Given the description of an element on the screen output the (x, y) to click on. 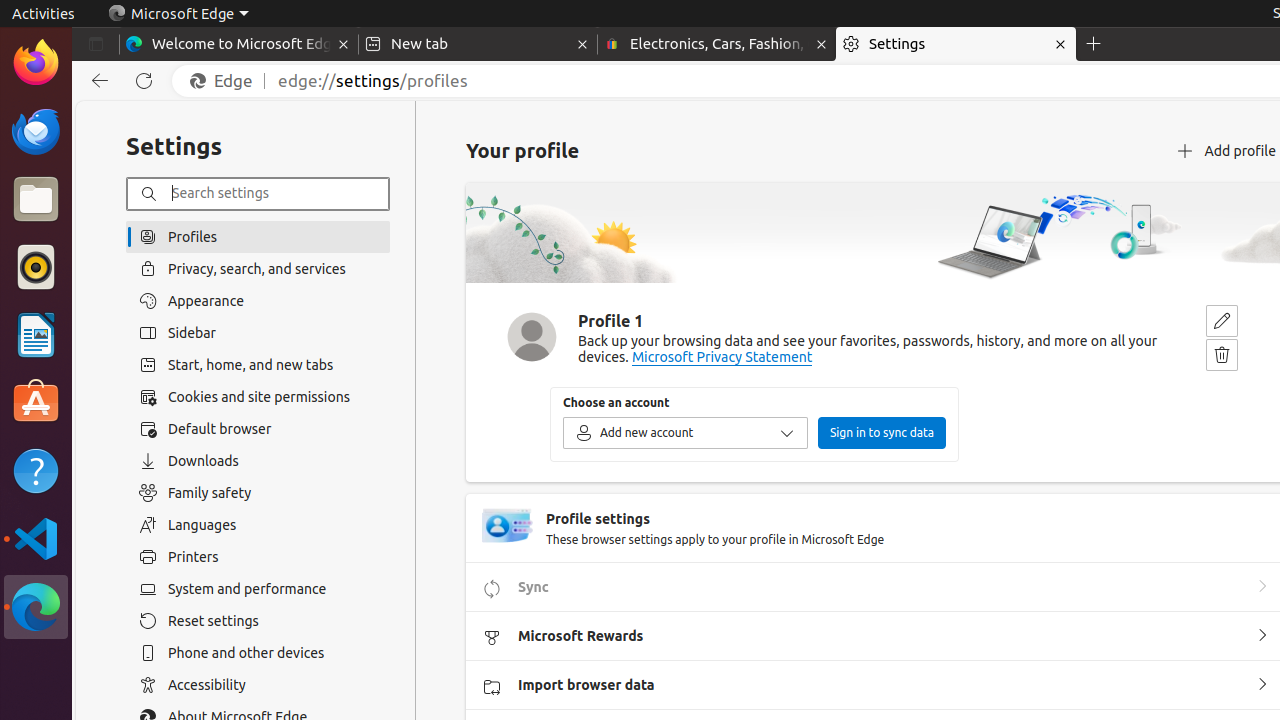
Settings Element type: page-tab (956, 44)
Start, home, and new tabs Element type: tree-item (258, 365)
Phone and other devices Element type: tree-item (258, 653)
Files Element type: push-button (36, 199)
Delete Element type: push-button (1222, 354)
